Given the description of an element on the screen output the (x, y) to click on. 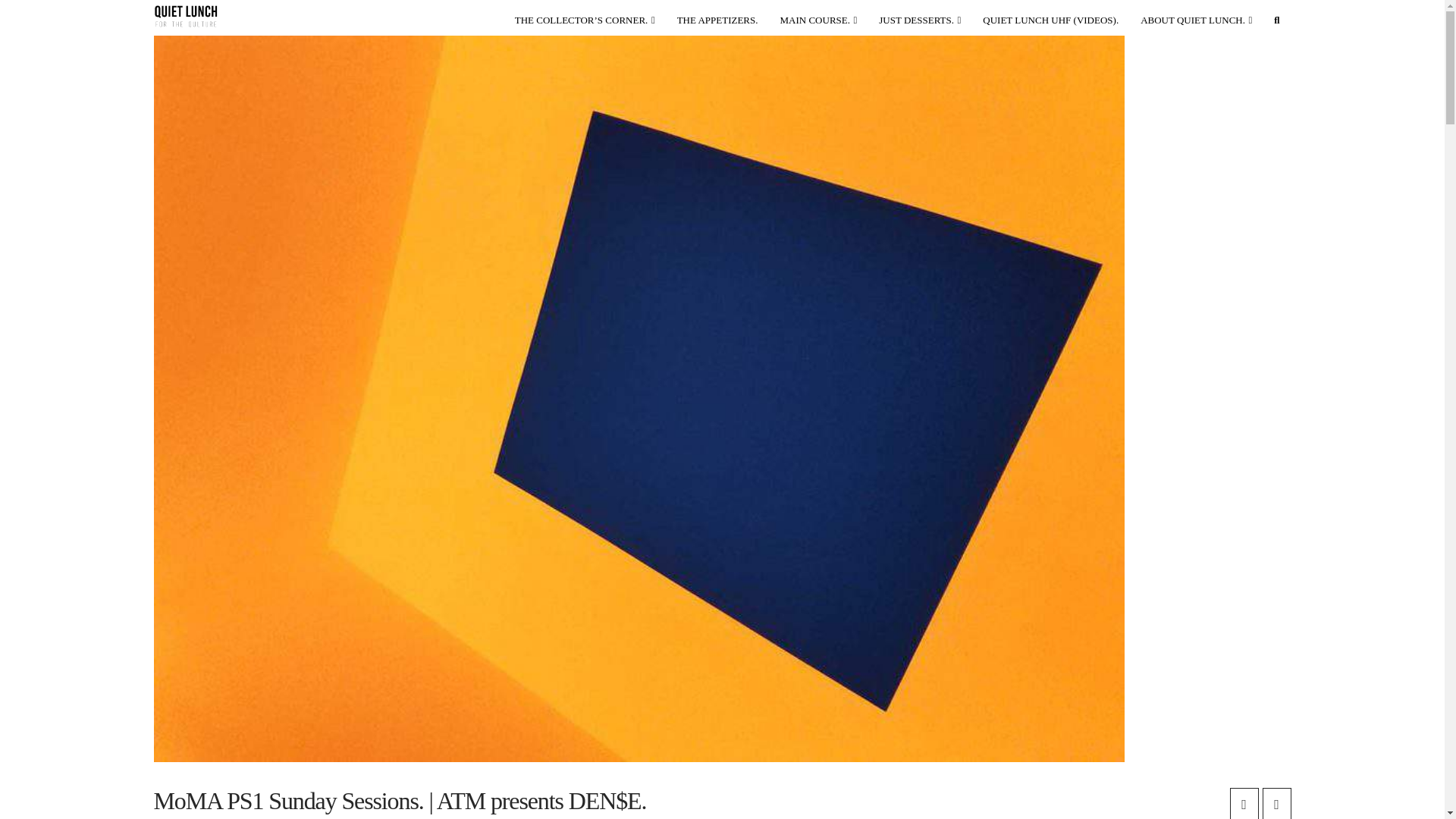
Quiet Lunch Online Shop (584, 17)
ABOUT QUIET LUNCH. (1196, 17)
THE APPETIZERS. (718, 17)
Fresh Off The Menu (718, 17)
MAIN COURSE. (819, 17)
JUST DESSERTS. (919, 17)
